Given the description of an element on the screen output the (x, y) to click on. 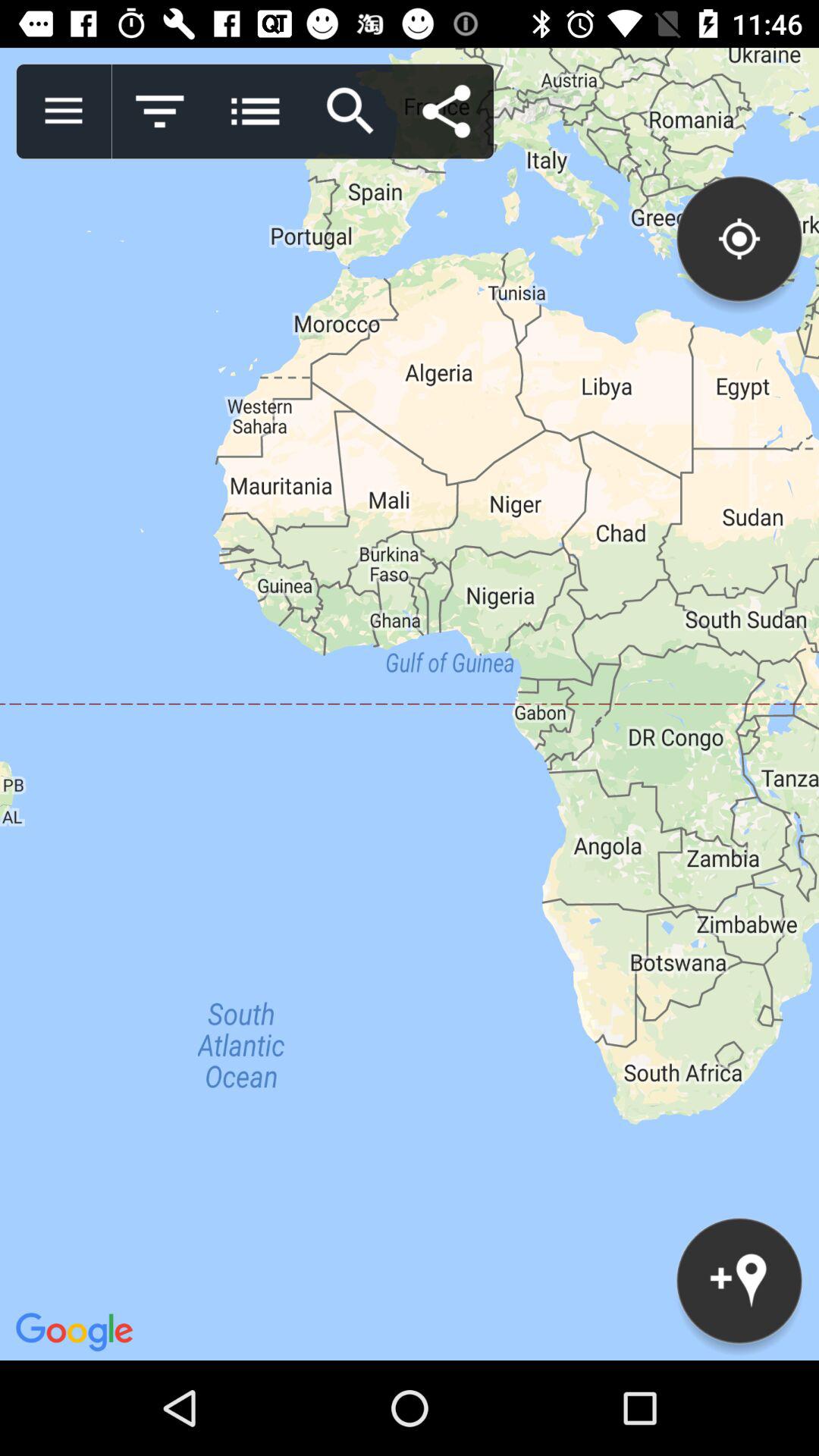
share location (446, 111)
